Given the description of an element on the screen output the (x, y) to click on. 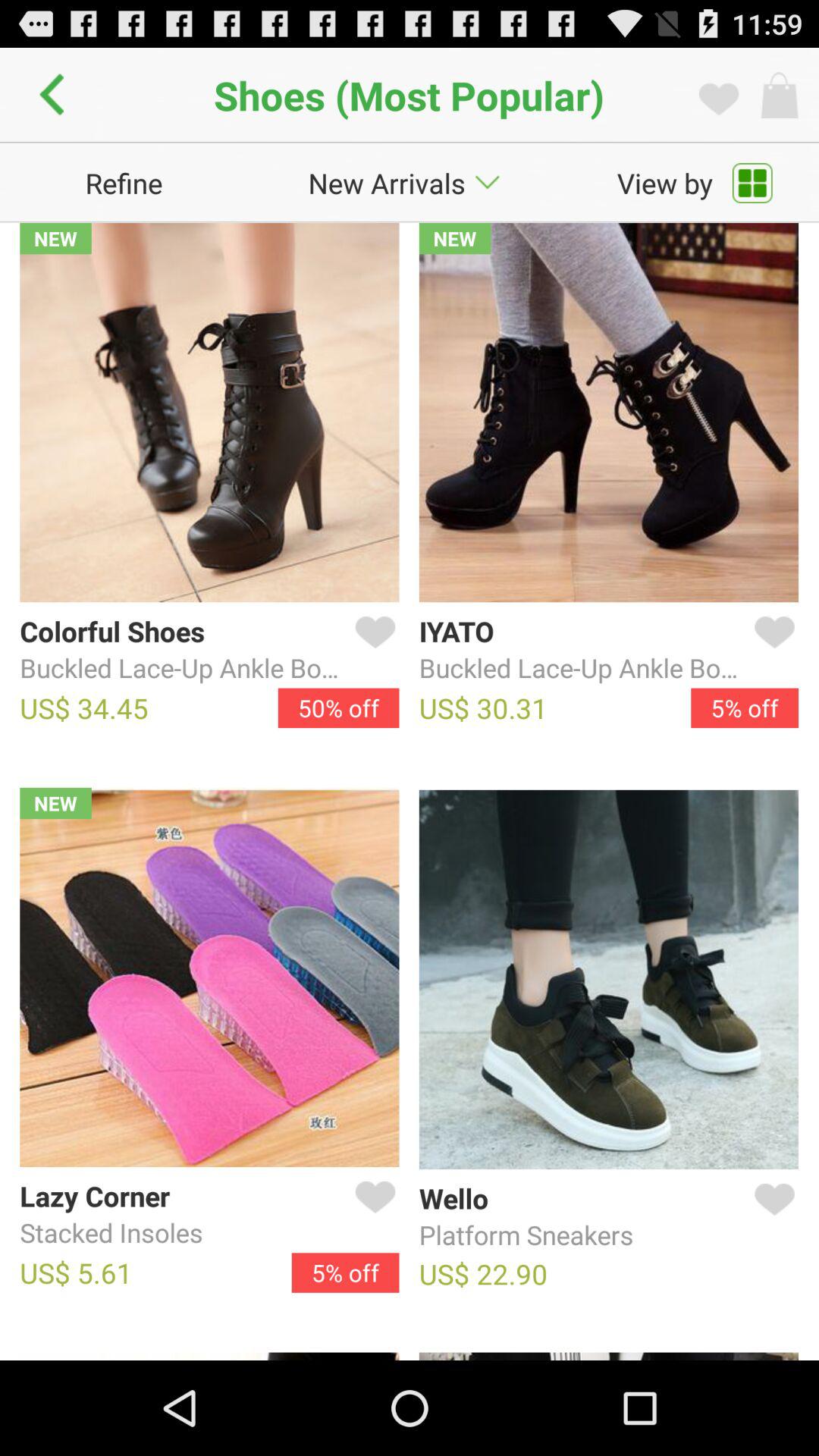
love item (771, 650)
